Given the description of an element on the screen output the (x, y) to click on. 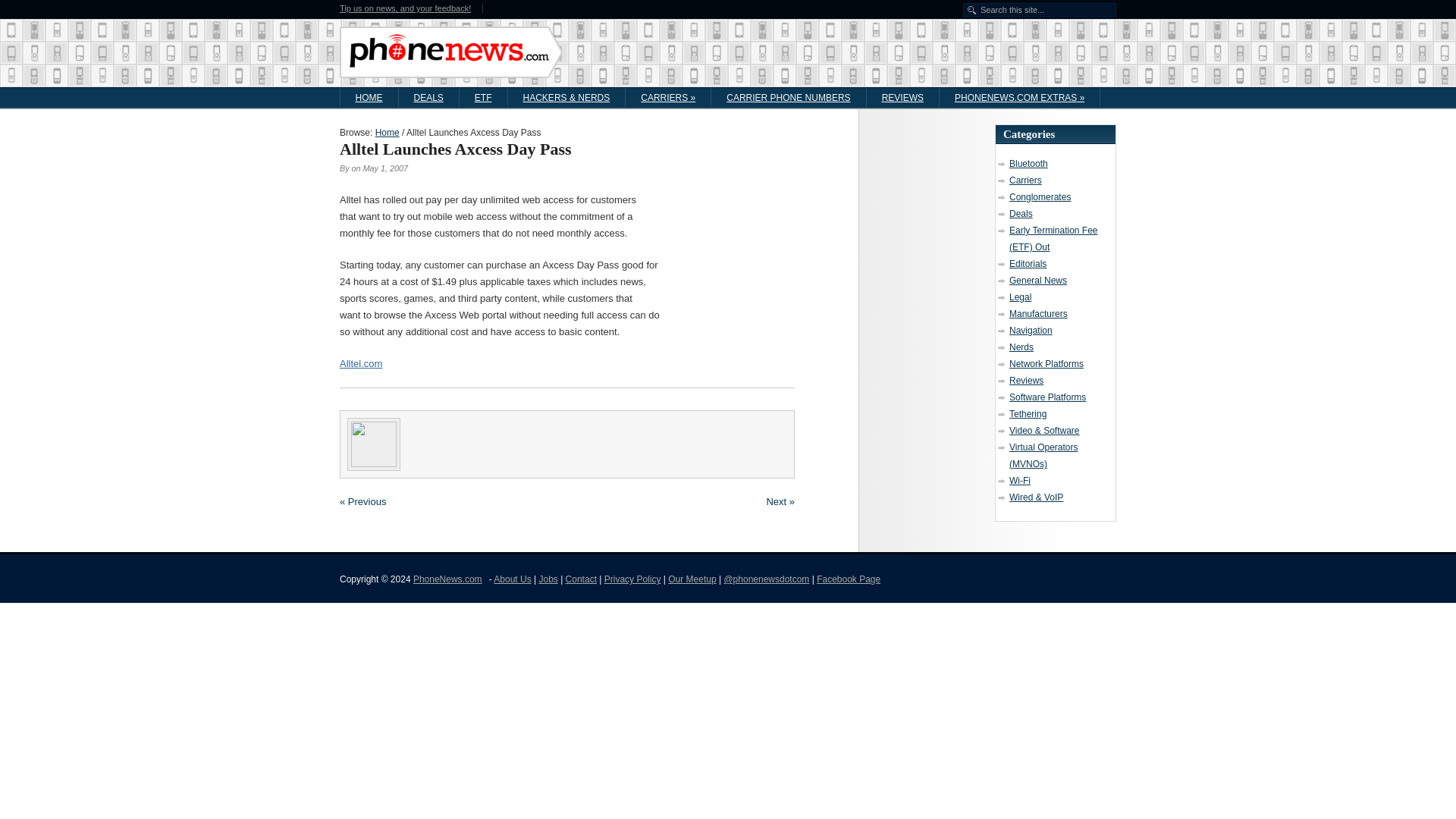
Nerds (1021, 347)
PhoneNews.com (447, 579)
PhoneNews.com (386, 132)
Search (64, 5)
Deals (1020, 213)
Tip us on news, and your feedback! (406, 8)
Reviews (1026, 380)
Alltel Launches Axcess Day Pass (455, 148)
Alltel.com (360, 363)
Legal (1019, 296)
Home (386, 132)
Navigation (1030, 330)
CARRIER PHONE NUMBERS (787, 97)
REVIEWS (902, 97)
General News (1038, 280)
